Given the description of an element on the screen output the (x, y) to click on. 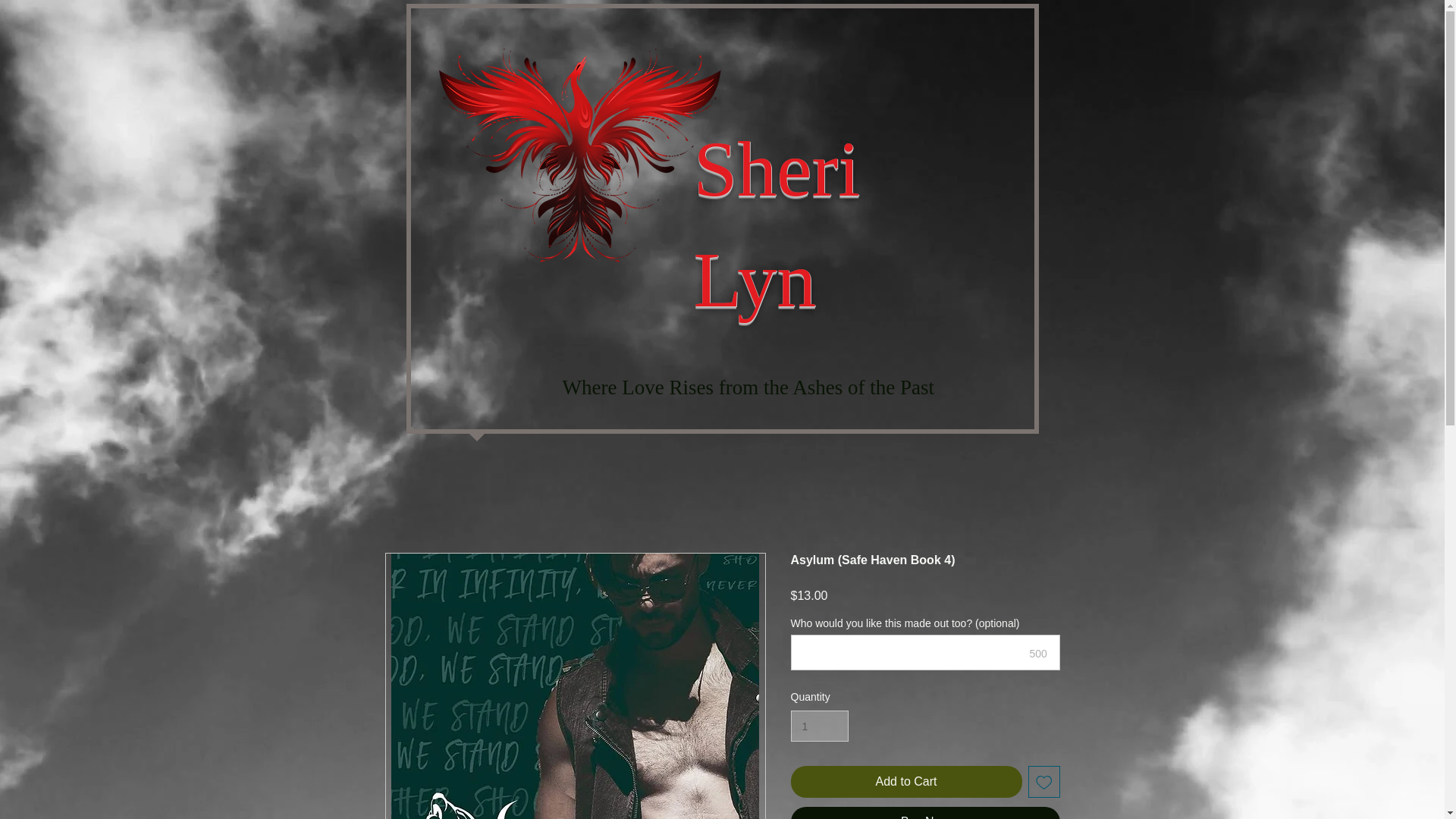
Add to Cart (906, 781)
Buy Now (924, 812)
1 (818, 726)
